Given the description of an element on the screen output the (x, y) to click on. 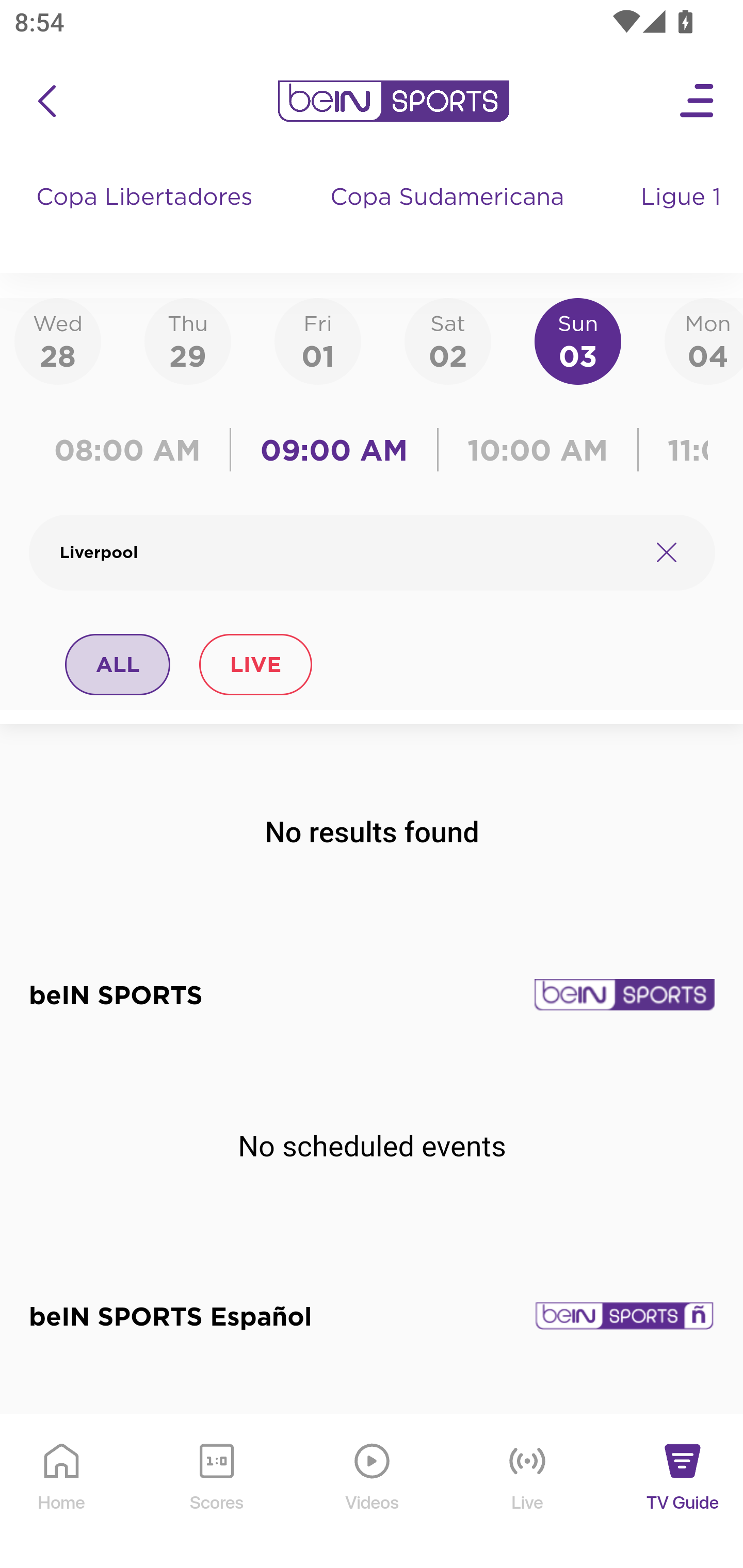
en-us?platform=mobile_android bein logo (392, 101)
icon back (46, 101)
Open Menu Icon (697, 101)
Copa Libertadores (146, 216)
Copa Sudamericana (448, 216)
Ligue 1 (682, 216)
Wed28 (58, 340)
Thu29 (187, 340)
Fri01 (318, 340)
Sat02 (447, 340)
Sun03 (578, 340)
Mon04 (703, 340)
08:00 AM (134, 449)
09:00 AM (334, 449)
10:00 AM (537, 449)
Liverpool (346, 552)
ALL (118, 663)
LIVE (255, 663)
Home Home Icon Home (61, 1491)
Scores Scores Icon Scores (216, 1491)
Videos Videos Icon Videos (372, 1491)
TV Guide TV Guide Icon TV Guide (682, 1491)
